Given the description of an element on the screen output the (x, y) to click on. 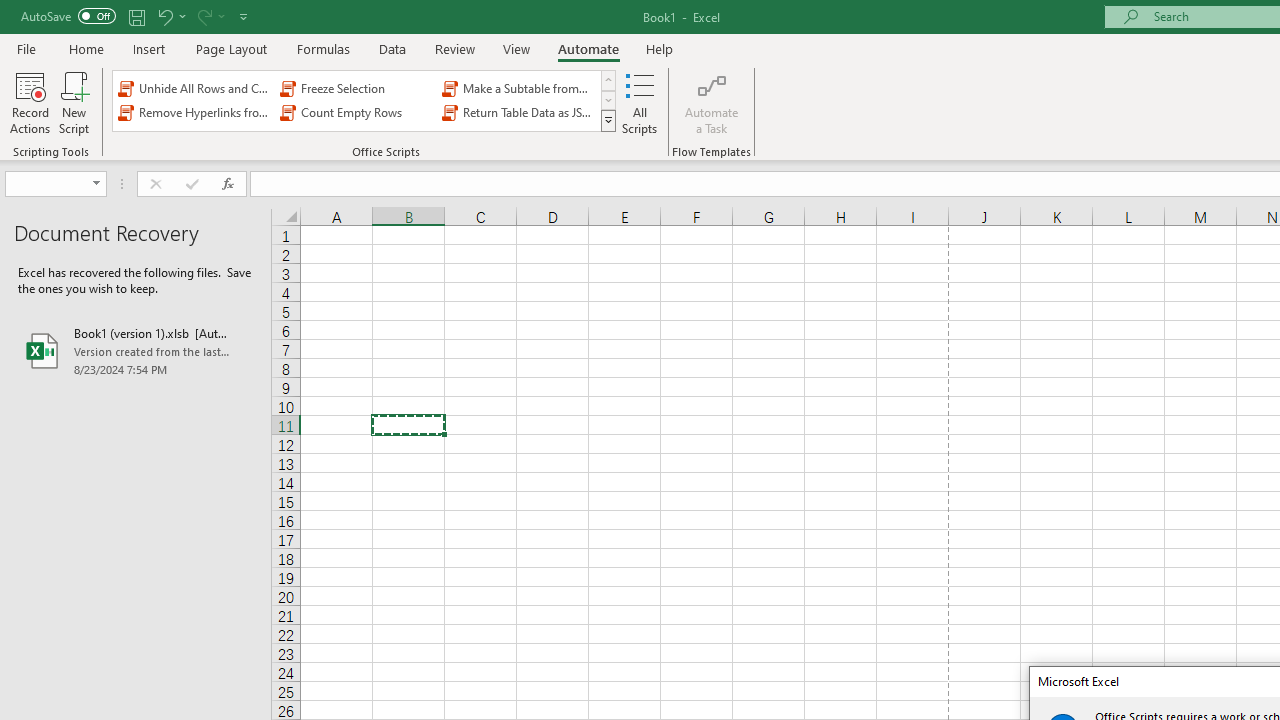
Freeze Selection (356, 88)
All Scripts (639, 102)
Office Scripts (608, 120)
